Given the description of an element on the screen output the (x, y) to click on. 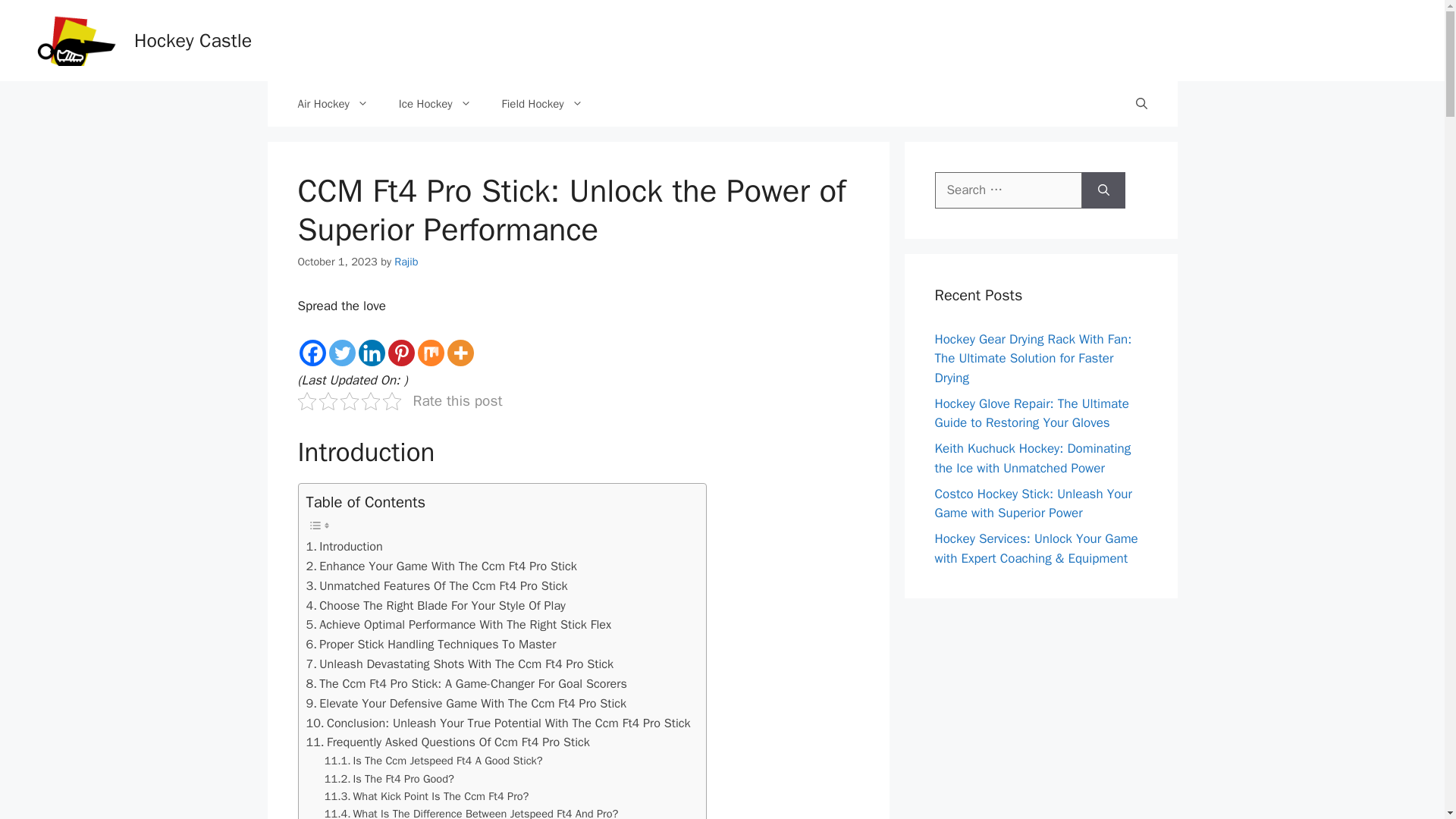
Choose The Right Blade For Your Style Of Play (435, 605)
Achieve Optimal Performance With The Right Stick Flex (458, 624)
Hockey Castle (192, 40)
Introduction (343, 546)
Enhance Your Game With The Ccm Ft4 Pro Stick (440, 566)
Ice Hockey (435, 103)
Proper Stick Handling Techniques To Master (430, 644)
View all posts by Rajib (405, 261)
Unmatched Features Of The Ccm Ft4 Pro Stick (436, 586)
Air Hockey (332, 103)
